Given the description of an element on the screen output the (x, y) to click on. 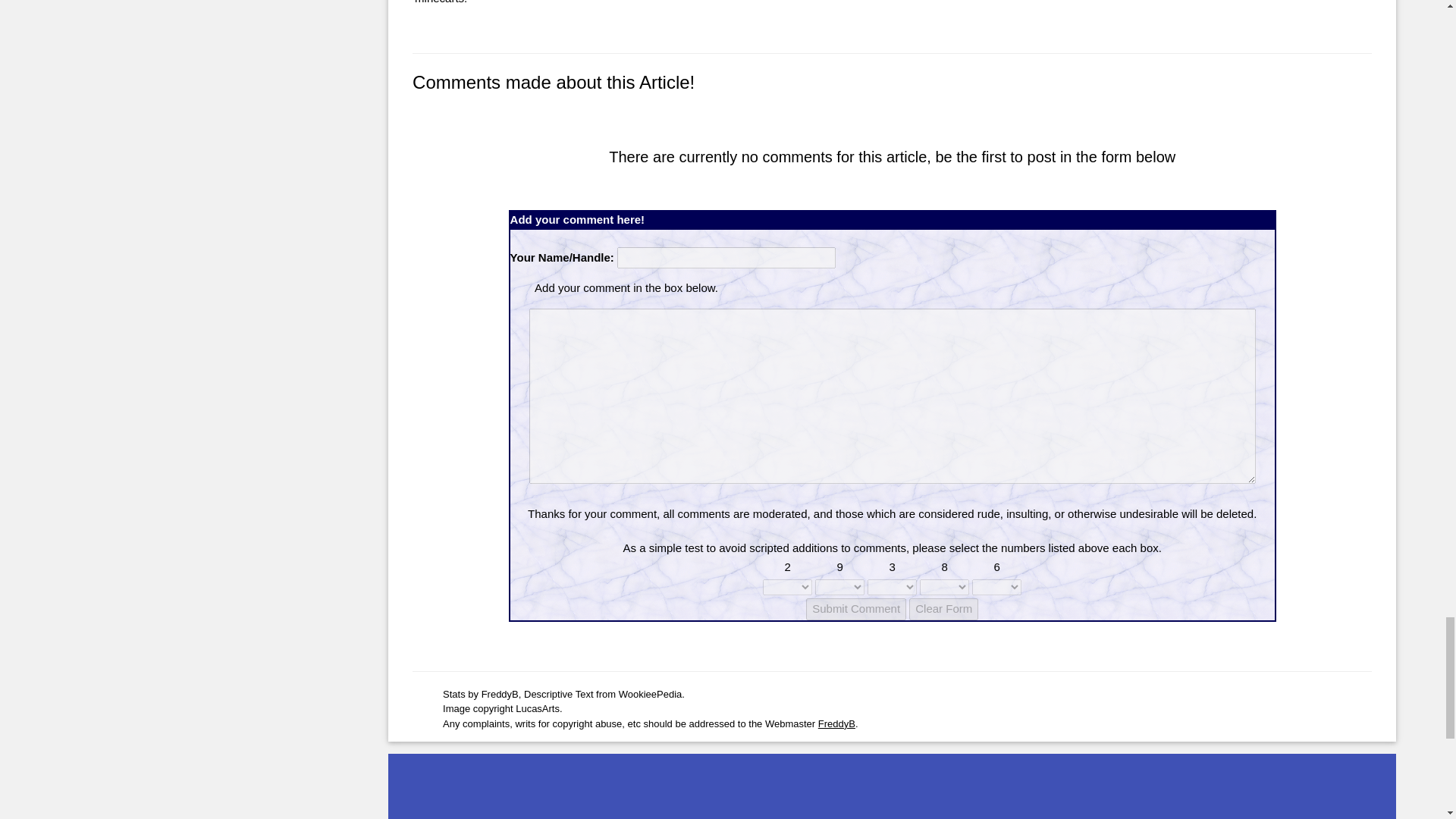
Clear Form (943, 608)
Submit Comment (855, 608)
